Given the description of an element on the screen output the (x, y) to click on. 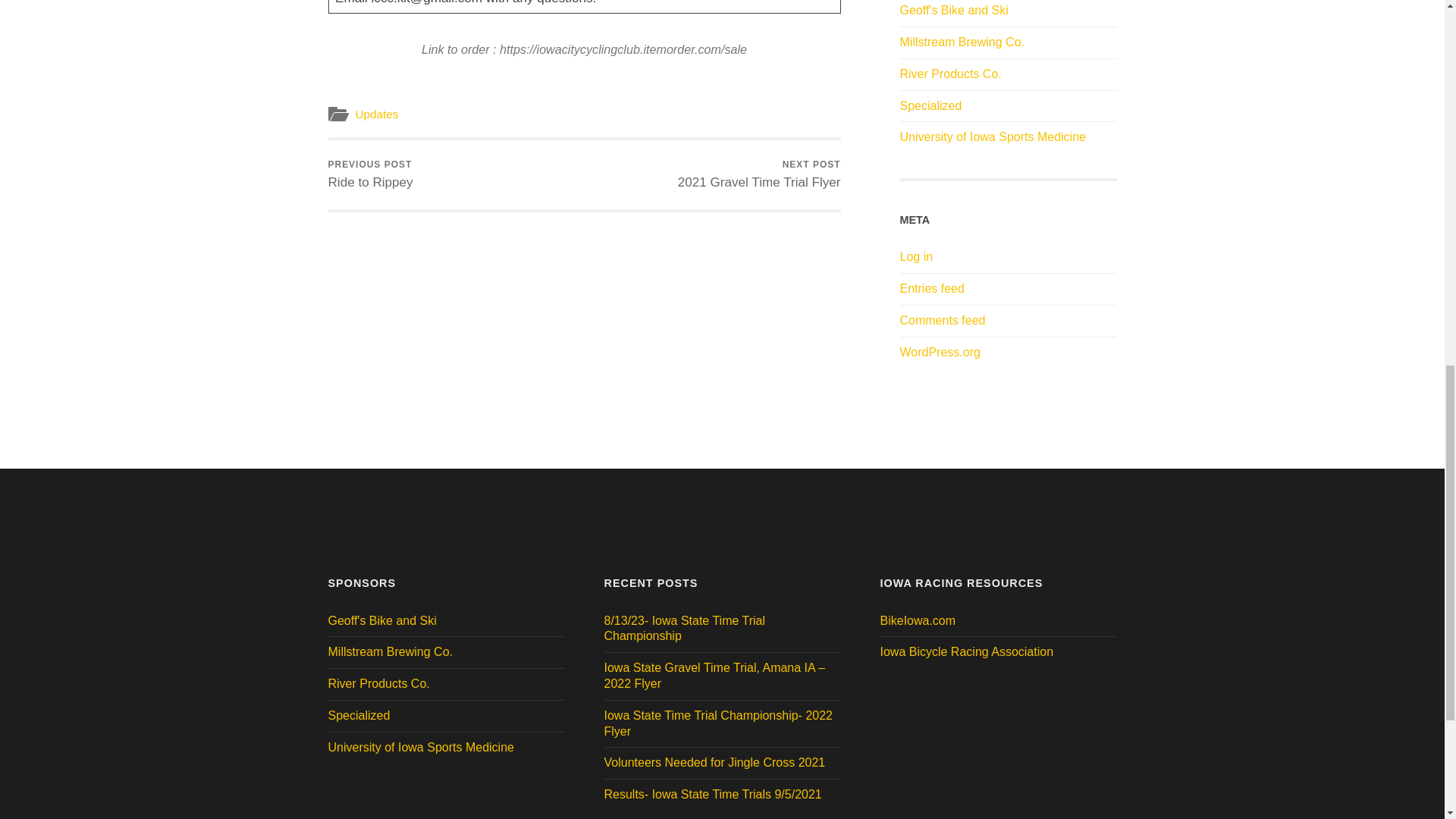
All things bike related in our great state. (917, 620)
Specialized (358, 715)
Geoff's Bike and Ski (953, 10)
Millstream Brewing Co. (389, 651)
Specialized (929, 105)
Comments feed (942, 319)
Iowa State Time Trial Championship- 2022 Flyer (722, 724)
Millstream Brewing Co. (961, 42)
River Products Co. (369, 174)
